Given the description of an element on the screen output the (x, y) to click on. 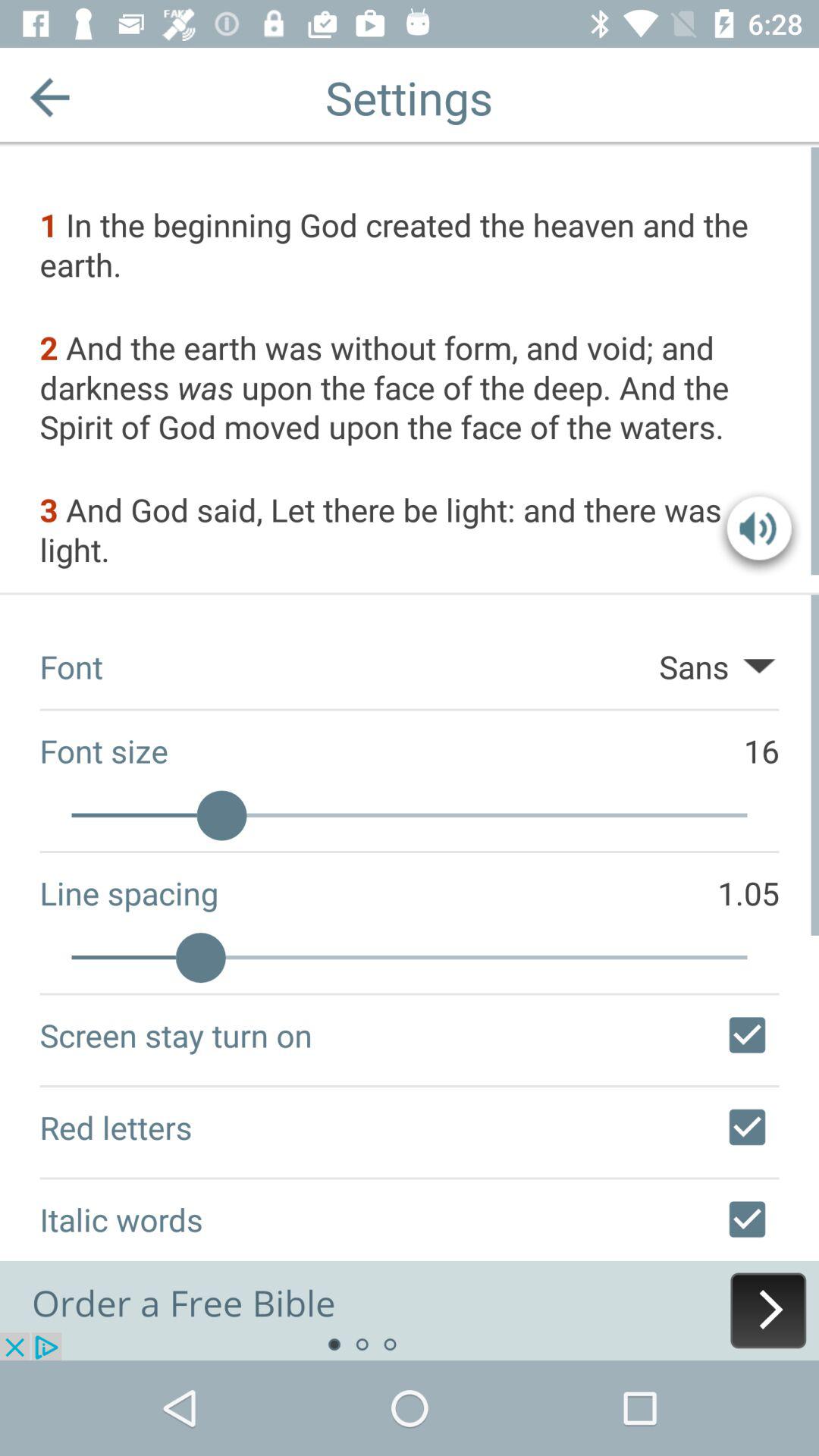
toggle sound (759, 532)
